Given the description of an element on the screen output the (x, y) to click on. 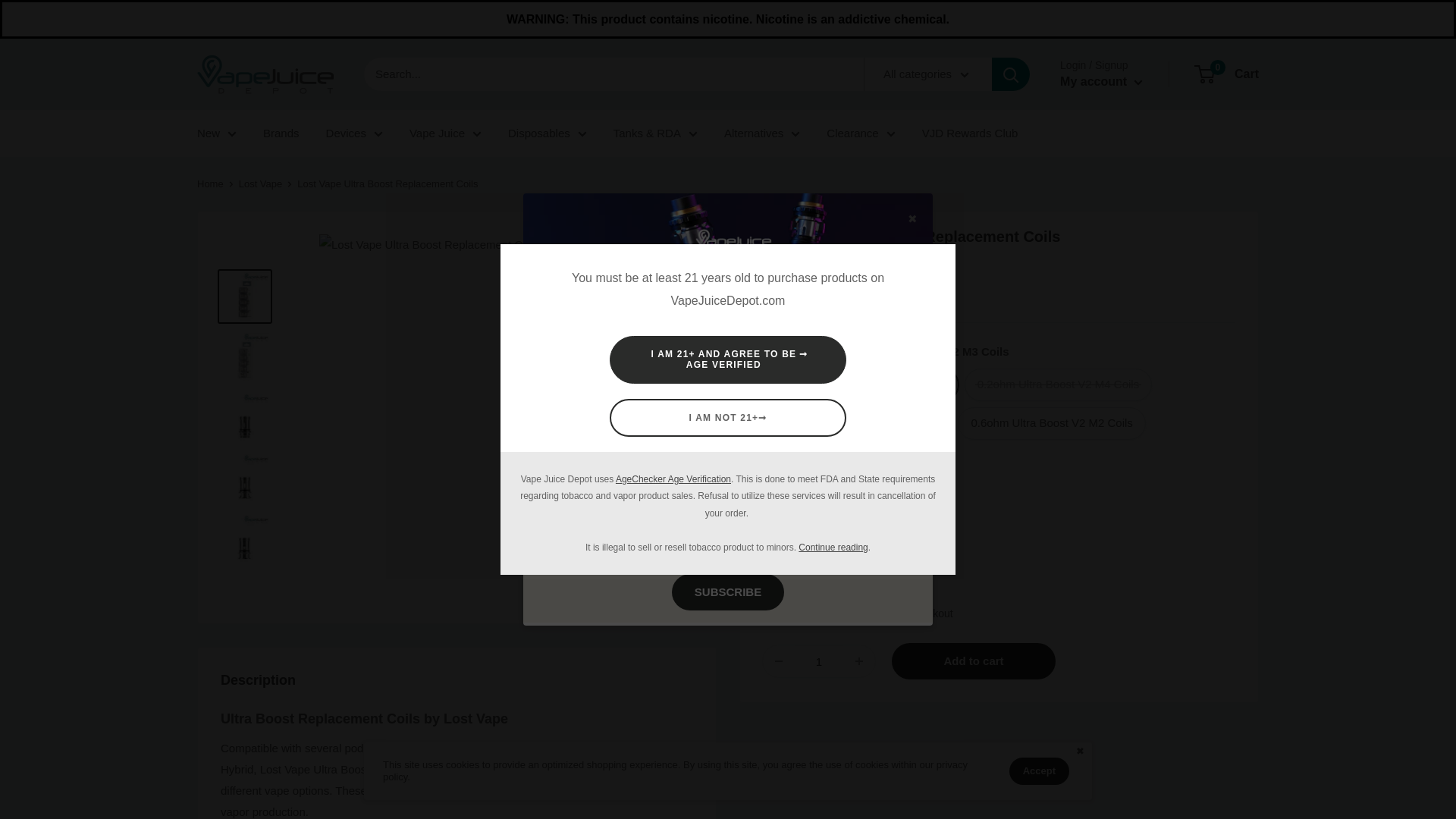
0.6ohm Ultra Boost V2 M2 Coils (1051, 423)
SUBSCRIBE (727, 592)
Continue reading (832, 547)
Report Potential Tobacco Product Violation (832, 547)
1 (818, 661)
AgeChecker Age Verification (672, 479)
Lost Vape (260, 183)
0.3ohm Ultra Boost V2 M1 Coils (858, 423)
0.2ohm Ultra Boost V2 M4 Coils (1057, 384)
0.15ohm Ultra Boost V2 M3 Coils (861, 384)
1.0ohm Ultra Boost MTL Coils (853, 461)
Increase quantity by 1 (859, 661)
1 x Pack of 5 (810, 542)
Decrease quantity by 1 (778, 661)
